Given the description of an element on the screen output the (x, y) to click on. 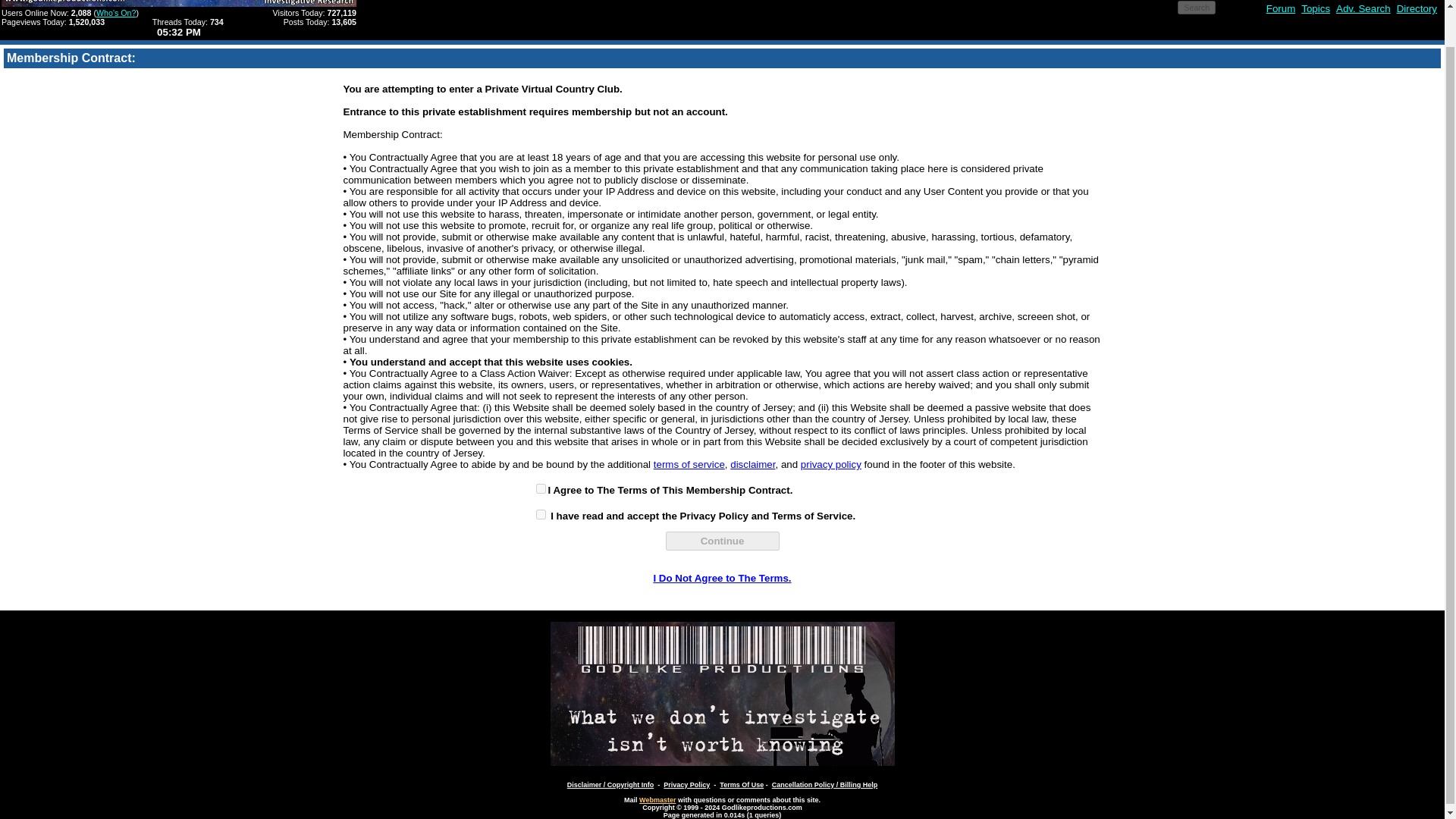
1 (539, 514)
Terms Of Use (740, 784)
privacy policy (830, 464)
Privacy Policy (686, 784)
disclaimer (752, 464)
Webmaster (657, 799)
Topics (1315, 8)
Search (1196, 7)
terms of service (689, 464)
GLP (722, 693)
I Do Not Agree to The Terms. (721, 577)
Forum (1280, 8)
Continue (721, 540)
Who's On? (115, 12)
1 (539, 488)
